Given the description of an element on the screen output the (x, y) to click on. 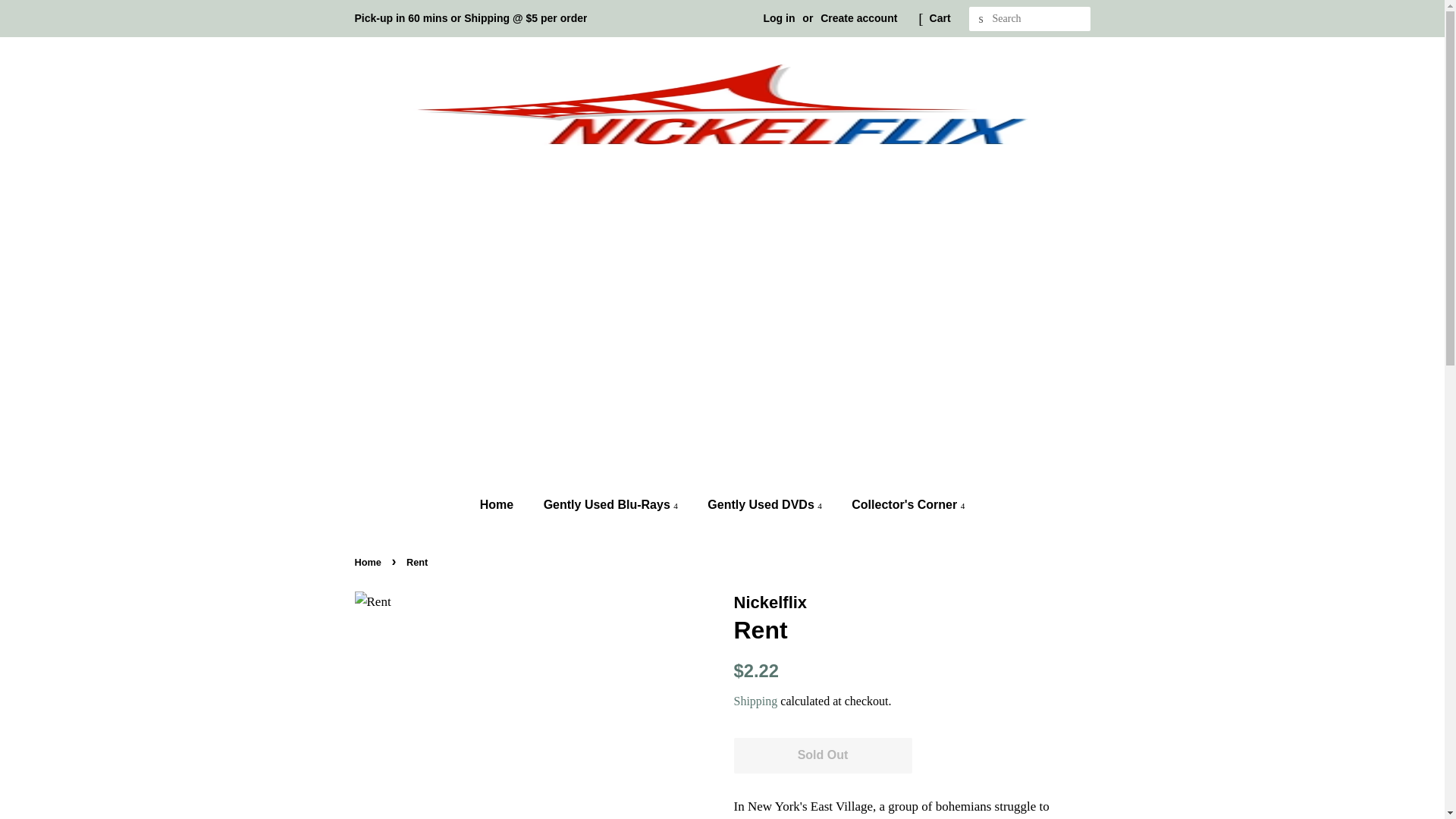
Create account (858, 18)
Back to the frontpage (370, 562)
Log in (778, 18)
Search (980, 18)
Cart (940, 18)
